Given the description of an element on the screen output the (x, y) to click on. 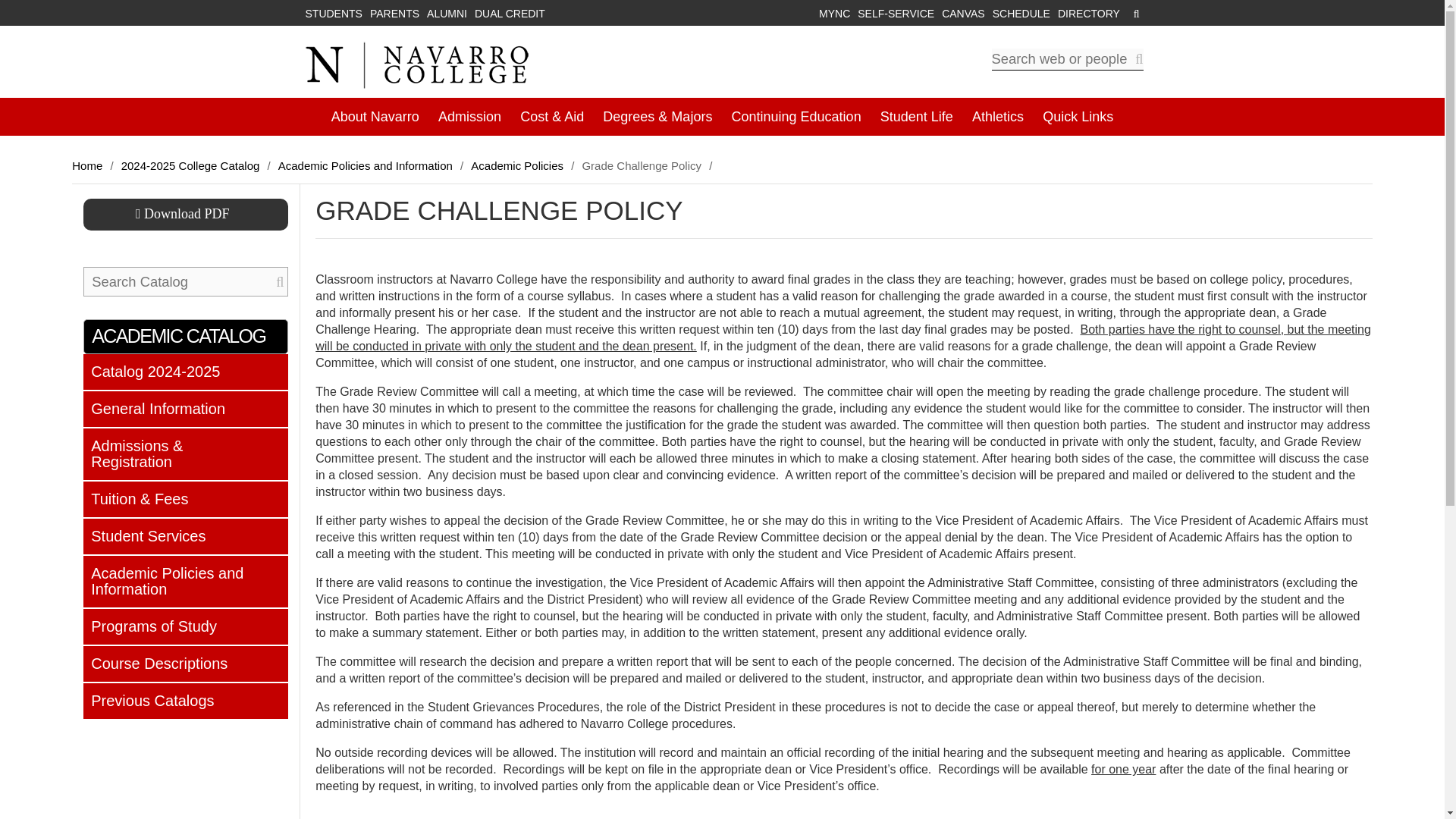
Download PDF (185, 214)
DIRECTORY (1084, 13)
PARENTS (397, 13)
SCHEDULE (1017, 13)
CANVAS (959, 13)
Catalog Home (185, 371)
ALUMNI (450, 13)
MYNC (830, 13)
Admission (469, 116)
DUAL CREDIT (513, 13)
